Given the description of an element on the screen output the (x, y) to click on. 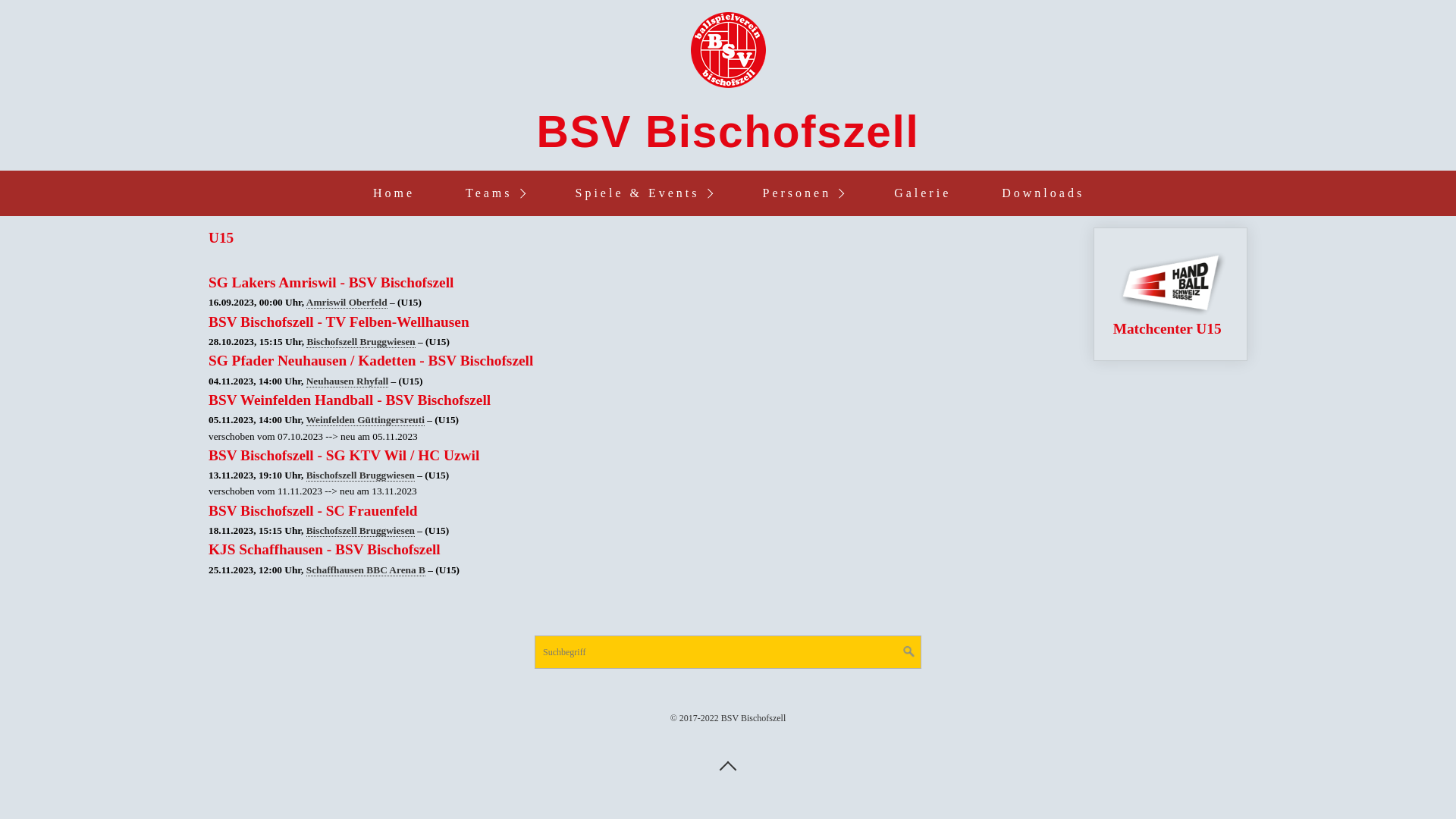
Amriswil Oberfeld Element type: text (346, 302)
Galerie Element type: text (921, 193)
Bischofszell Bruggwiesen Element type: text (360, 530)
Teams Element type: text (494, 193)
BSV Bischofszell Element type: text (727, 131)
Downloads Element type: text (1041, 193)
Personen Element type: text (802, 193)
Bischofszell Bruggwiesen Element type: text (360, 475)
Home Element type: text (393, 193)
Neuhausen Rhyfall Element type: text (347, 381)
Schaffhausen BBC Arena B Element type: text (365, 570)
Nach oben / To top Element type: hover (727, 765)
Bischofszell Bruggwiesen Element type: text (360, 341)
Spiele & Events Element type: text (642, 193)
